Given the description of an element on the screen output the (x, y) to click on. 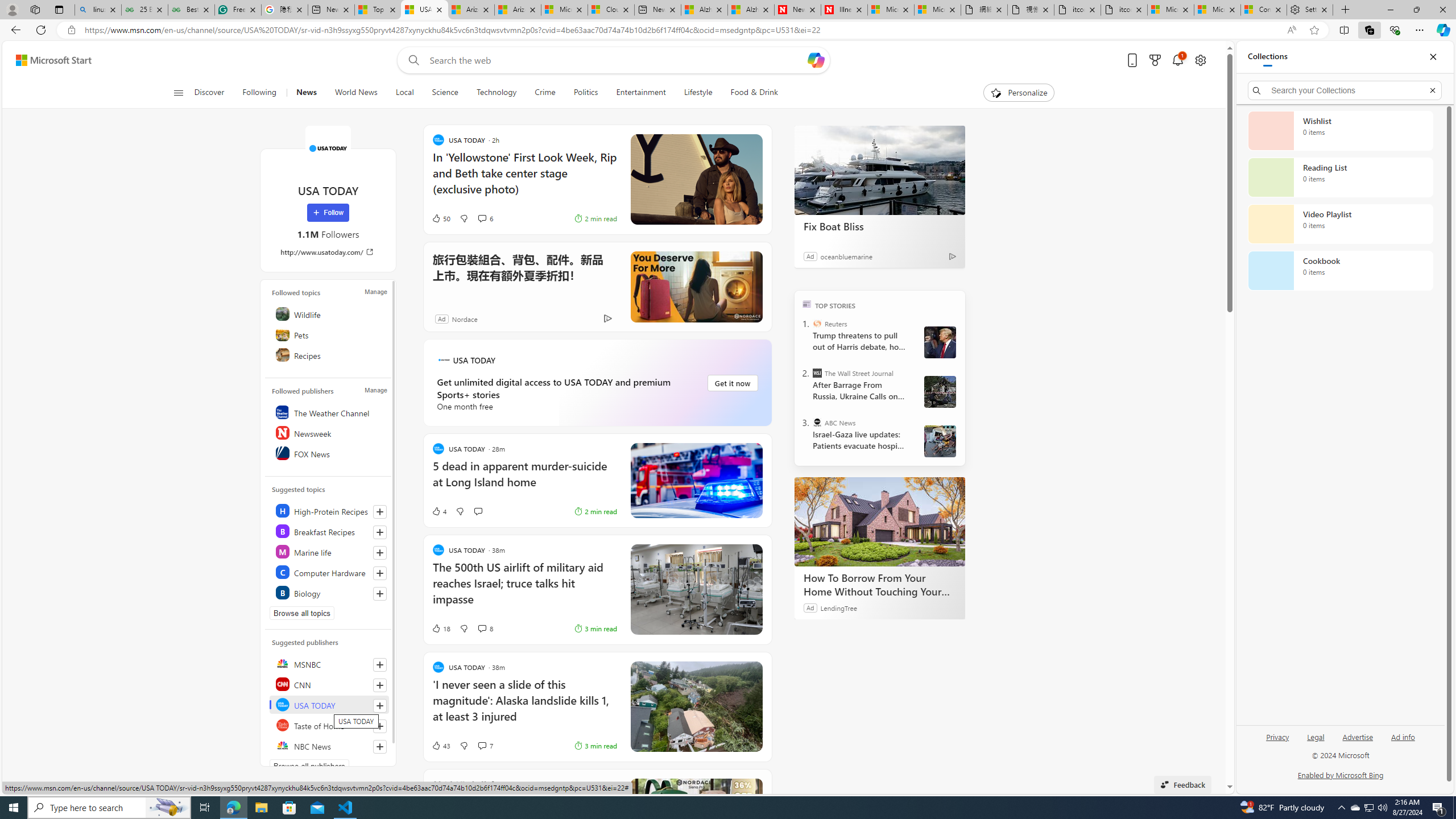
50 Like (440, 218)
Recipes (328, 354)
The Weather Channel (328, 411)
http://www.usatoday.com/ (327, 251)
MSNBC (328, 663)
